Given the description of an element on the screen output the (x, y) to click on. 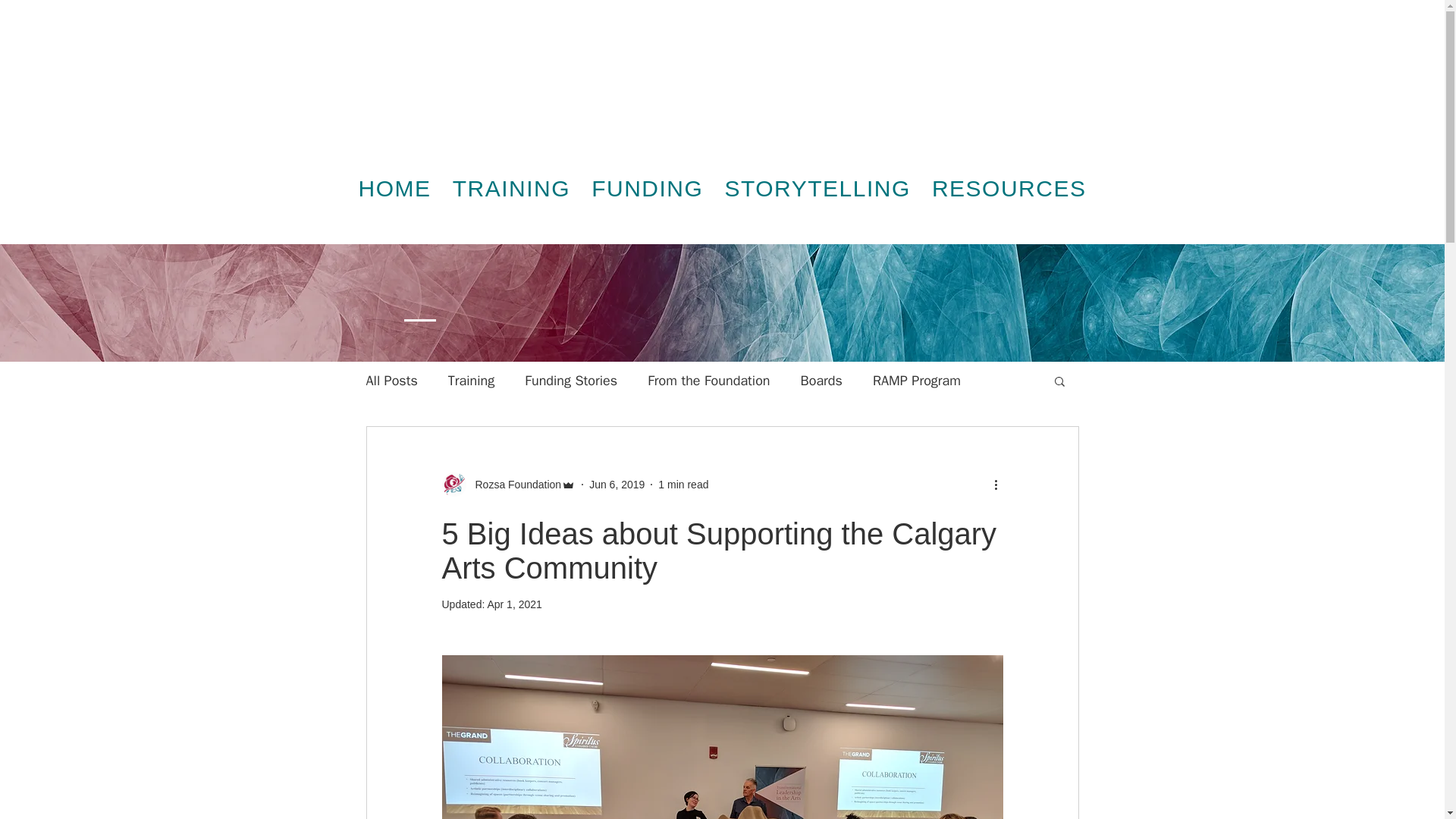
STORYTELLING (816, 188)
All Posts (390, 380)
Jun 6, 2019 (617, 483)
Training (471, 380)
RAMP Program (916, 380)
TRAINING (511, 188)
RESOURCES (1009, 188)
Apr 1, 2021 (513, 604)
From the Foundation (708, 380)
FUNDING (646, 188)
